Given the description of an element on the screen output the (x, y) to click on. 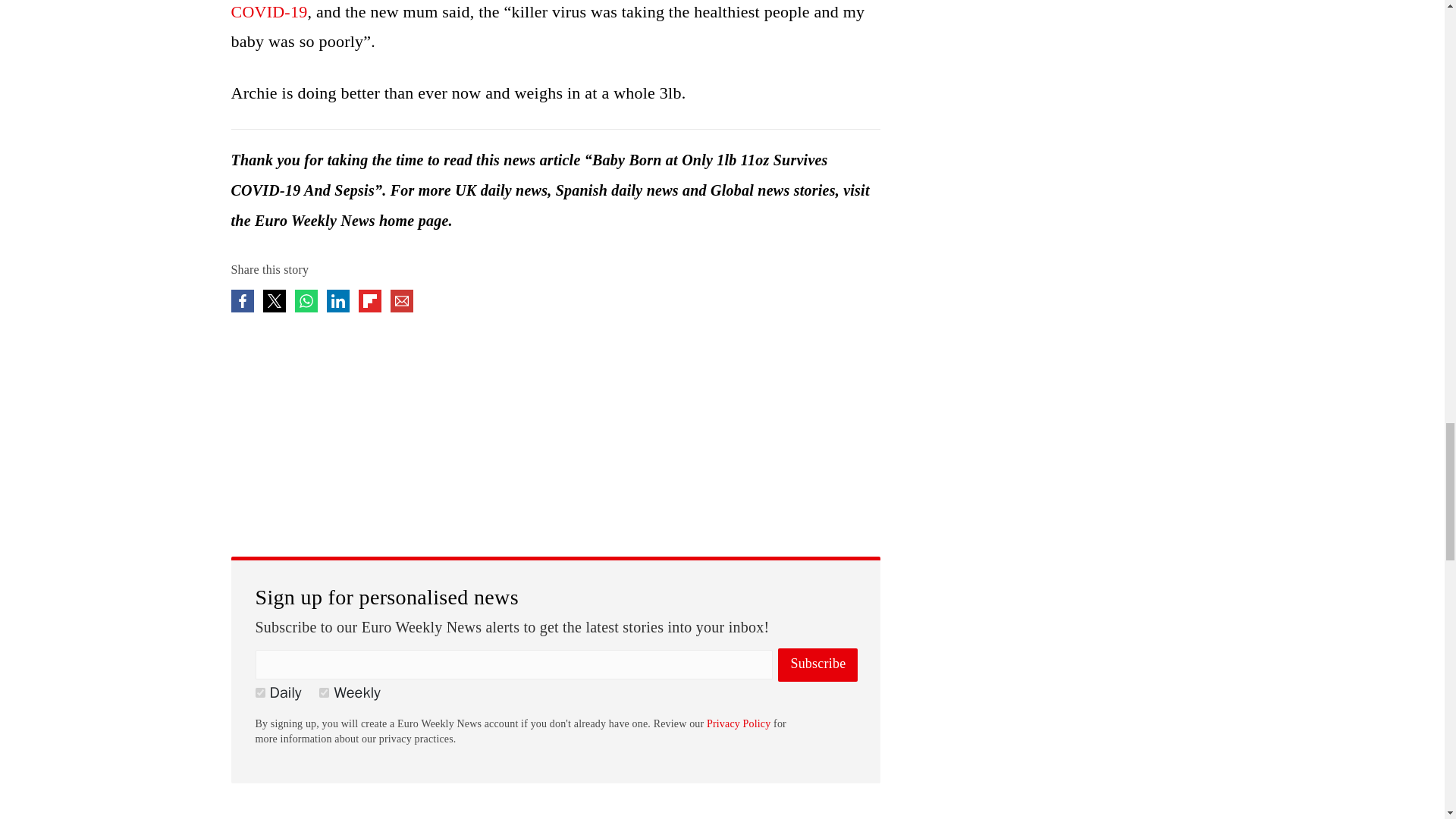
Subscribe (817, 664)
6 (259, 692)
7 (323, 692)
